Given the description of an element on the screen output the (x, y) to click on. 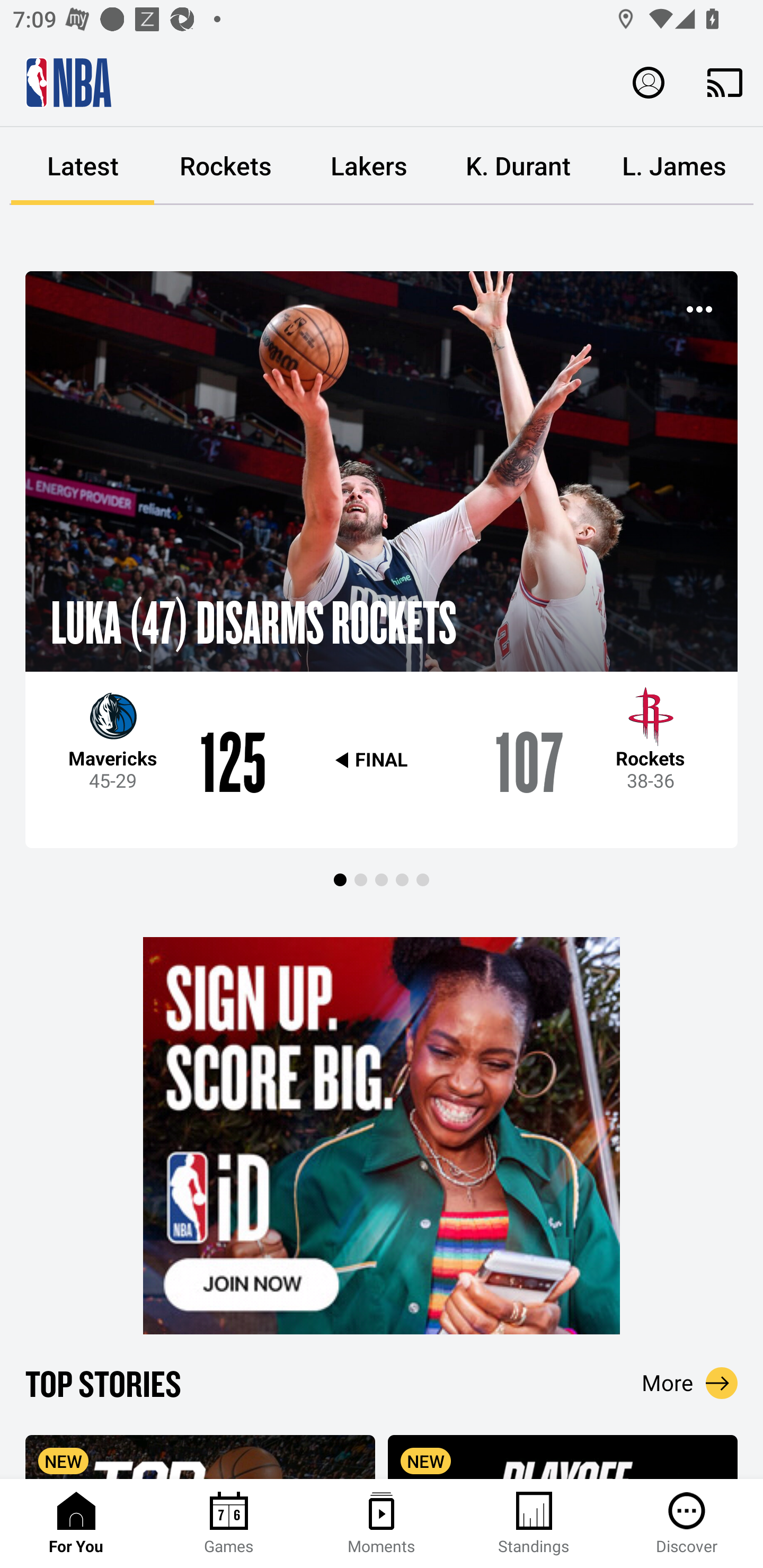
Cast. Disconnected (724, 82)
Profile (648, 81)
Rockets (225, 166)
Lakers (368, 166)
K. Durant (518, 166)
L. James (673, 166)
More (689, 1382)
Games (228, 1523)
Moments (381, 1523)
Standings (533, 1523)
Discover (686, 1523)
